Given the description of an element on the screen output the (x, y) to click on. 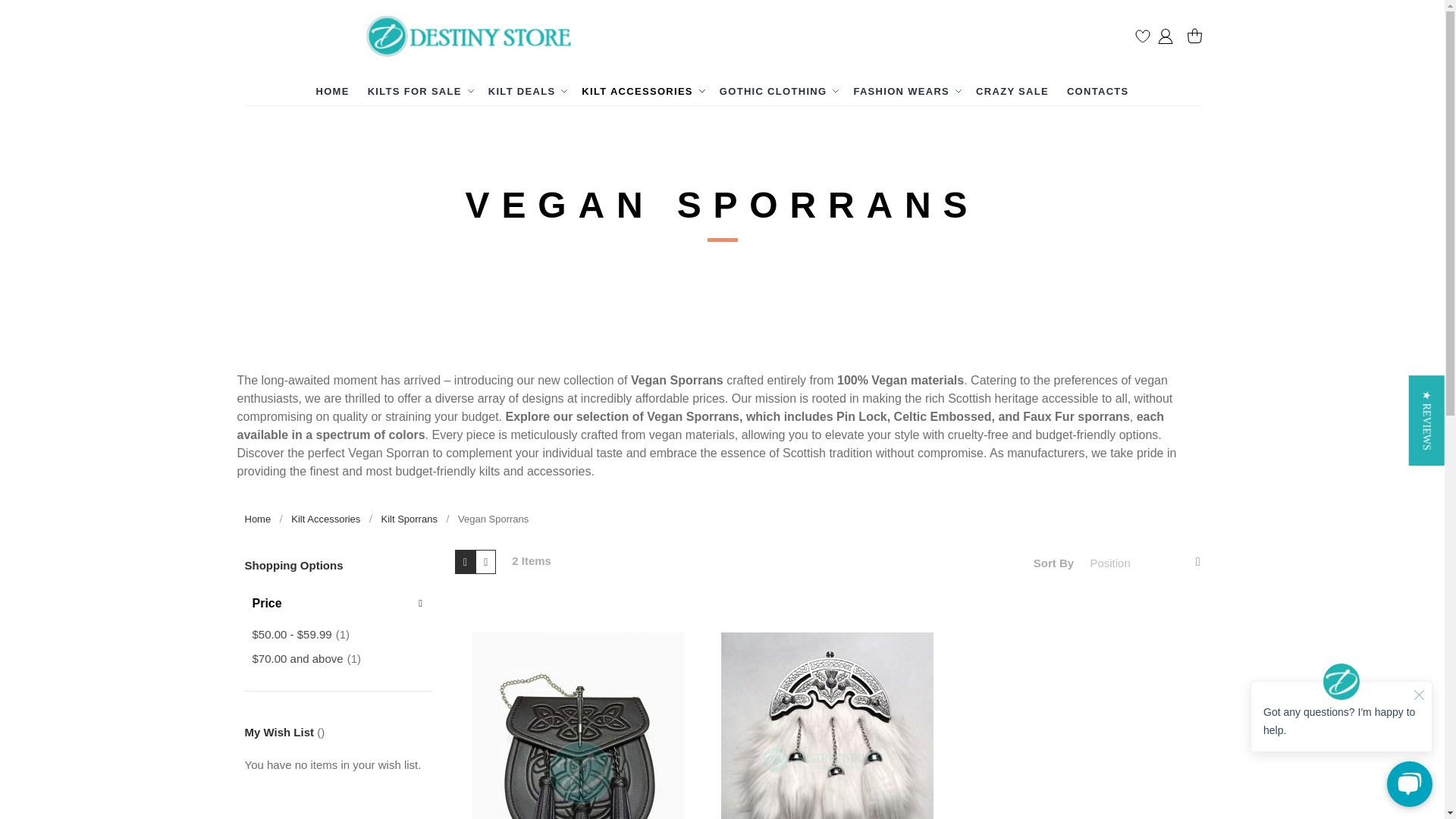
KILT ACCESSORIES (641, 90)
Grid (465, 561)
My Wish List (1142, 39)
Destiny Store (474, 38)
KILT DEALS (526, 90)
KILTS FOR SALE (418, 90)
HOME (331, 90)
Set Descending Direction (1197, 561)
Destiny Store (474, 36)
My Account (1164, 37)
My Cart (1187, 36)
Go to Home Page (258, 518)
List (486, 561)
